Given the description of an element on the screen output the (x, y) to click on. 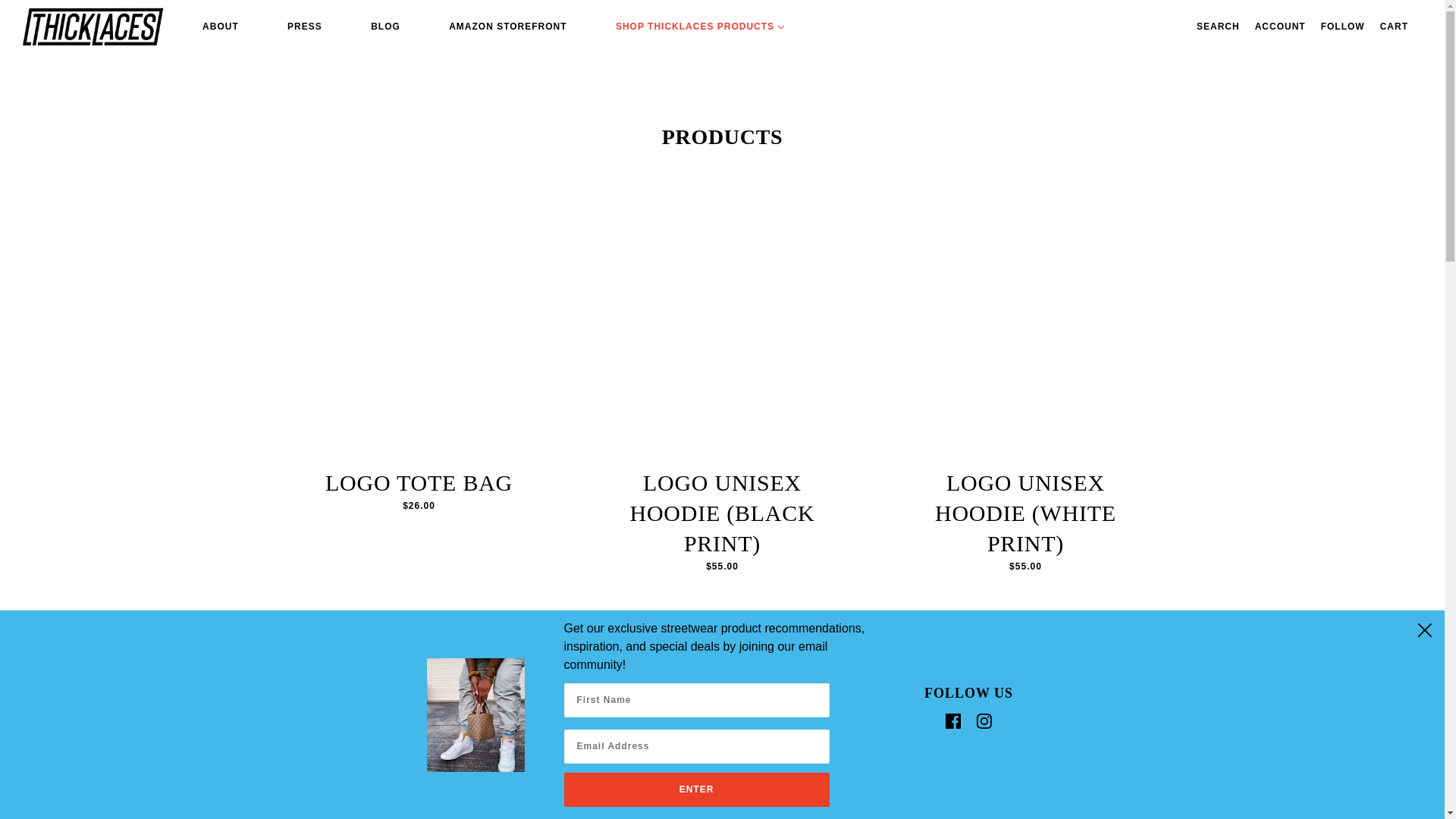
Logo Tote Bag (418, 336)
Logo Tote Bag (418, 505)
SEARCH (1218, 18)
BLOG (385, 18)
AMAZON STOREFRONT (507, 18)
ABOUT (220, 18)
CART (1394, 18)
SHOP THICKLACES PRODUCTS (700, 18)
Enter (696, 789)
ACCOUNT (1280, 18)
Logo Tote Bag (418, 485)
LOGO TOTE BAG (418, 485)
PRESS (304, 18)
